Given the description of an element on the screen output the (x, y) to click on. 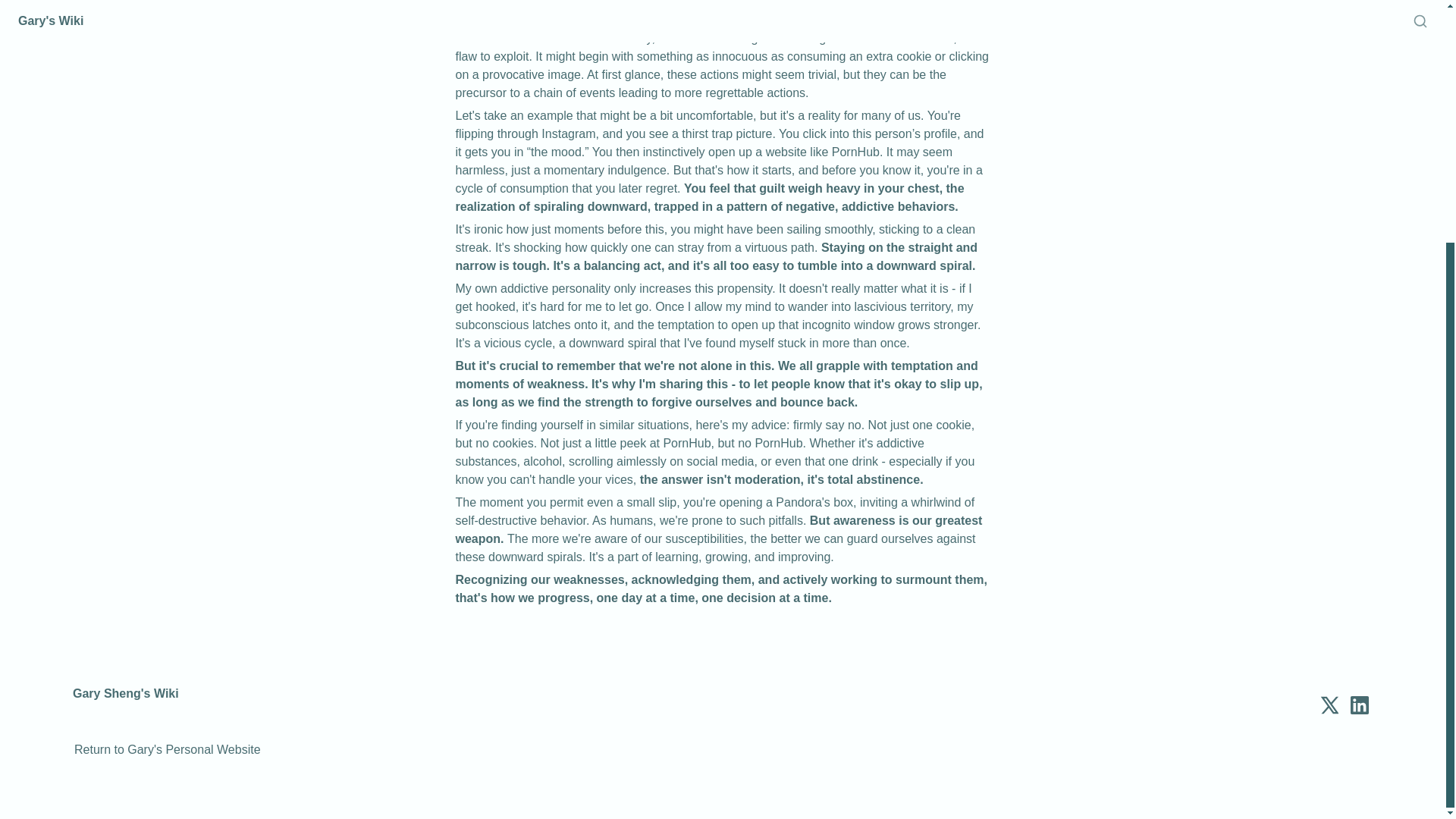
X (1329, 705)
Gary Sheng's Wiki (125, 705)
LinkedIn (1359, 705)
X (1329, 705)
Return to Gary's Personal Website (167, 750)
LinkedIn (1359, 705)
